Given the description of an element on the screen output the (x, y) to click on. 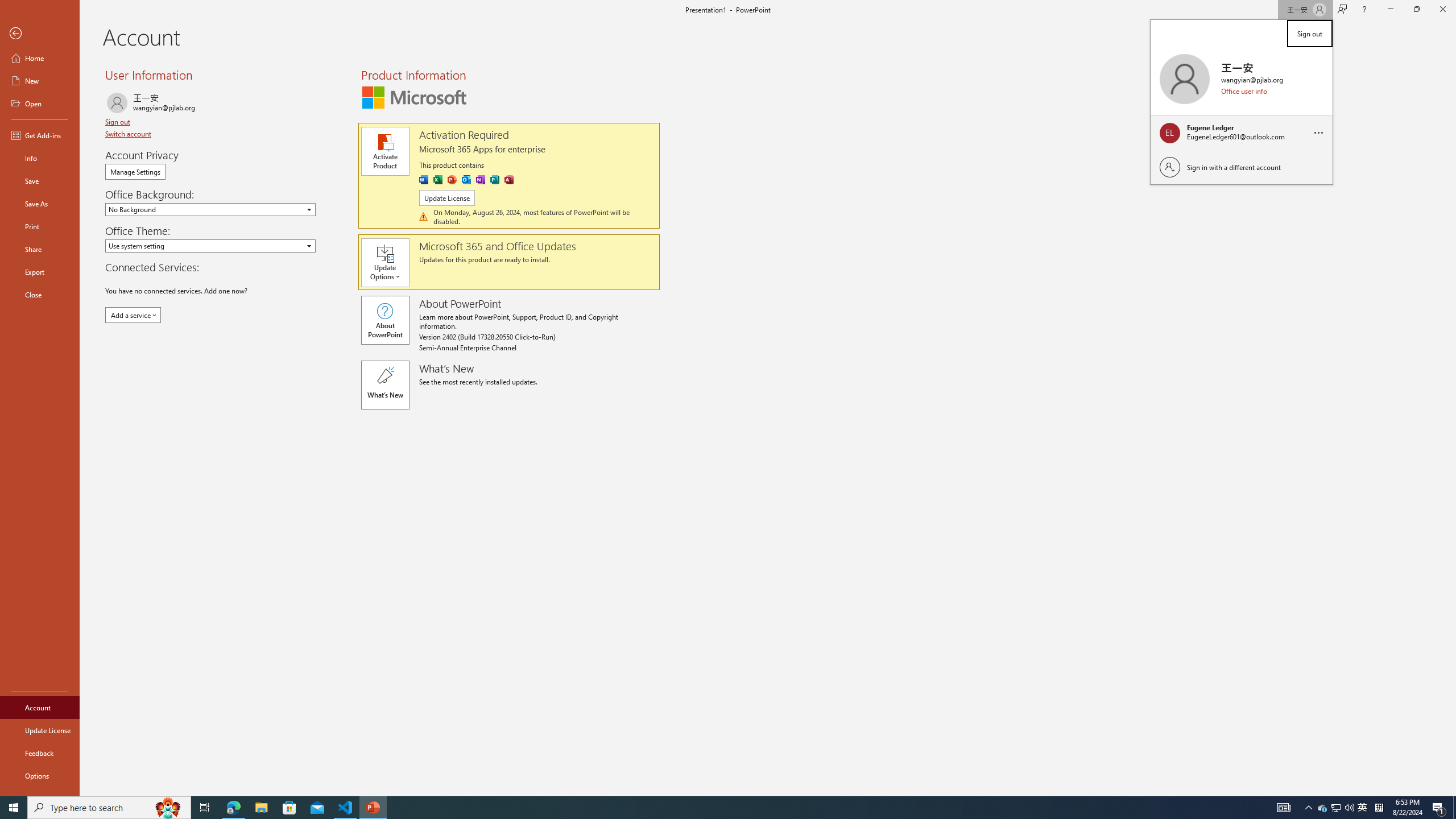
Back (40, 33)
Access (508, 179)
Add a service (132, 314)
Get Add-ins (40, 134)
New (40, 80)
Account (1322, 807)
Print (40, 707)
